Given the description of an element on the screen output the (x, y) to click on. 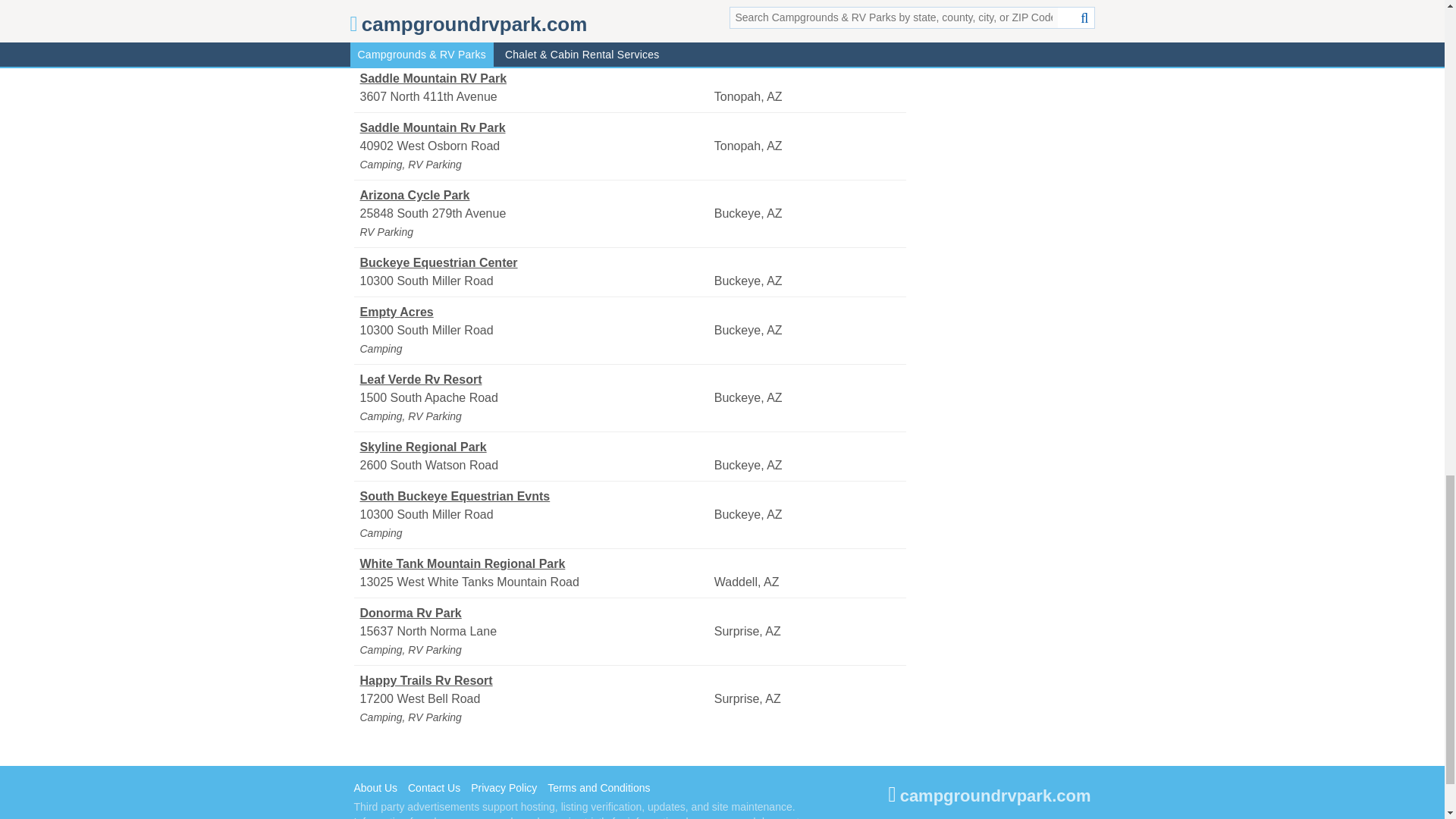
Donorma Rv Park (534, 613)
White Tank Mountain Regional Park (534, 564)
Saddle Mountain RV Park (534, 78)
Arizona Cycle Park in Buckeye, Arizona (534, 195)
El Dorado Hot Springs (534, 11)
Buckeye Equestrian Center in Buckeye, Arizona (534, 262)
Saddle Mountain Rv Park (534, 127)
Skyline Regional Park (534, 447)
Leaf Verde Rv Resort in Buckeye, Arizona (534, 380)
Empty Acres in Buckeye, Arizona (534, 312)
Arizona Cycle Park (534, 195)
Saddle Mountain RV Park in Tonopah, Arizona (534, 78)
South Buckeye Equestrian Evnts (534, 496)
Skyline Regional Park in Buckeye, Arizona (534, 447)
El Dorado Hot Springs in Tonopah, Arizona (534, 11)
